Given the description of an element on the screen output the (x, y) to click on. 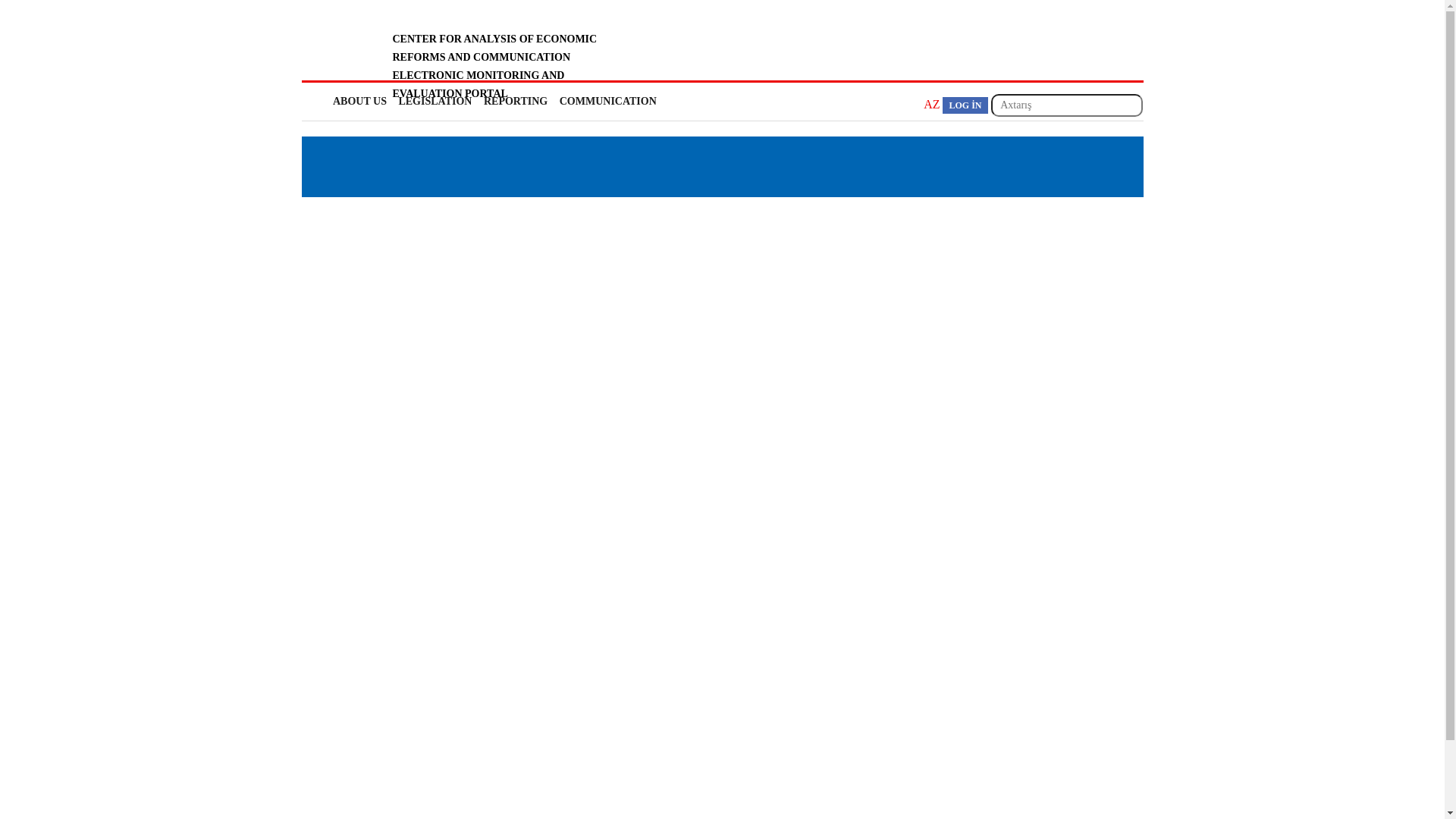
AZ Element type: text (931, 103)
LOG IN Element type: text (964, 105)
ABOUT US Element type: text (357, 101)
COMMUNICATION Element type: text (606, 101)
REPORTING Element type: text (513, 101)
LEGISLATION Element type: text (433, 101)
